Given the description of an element on the screen output the (x, y) to click on. 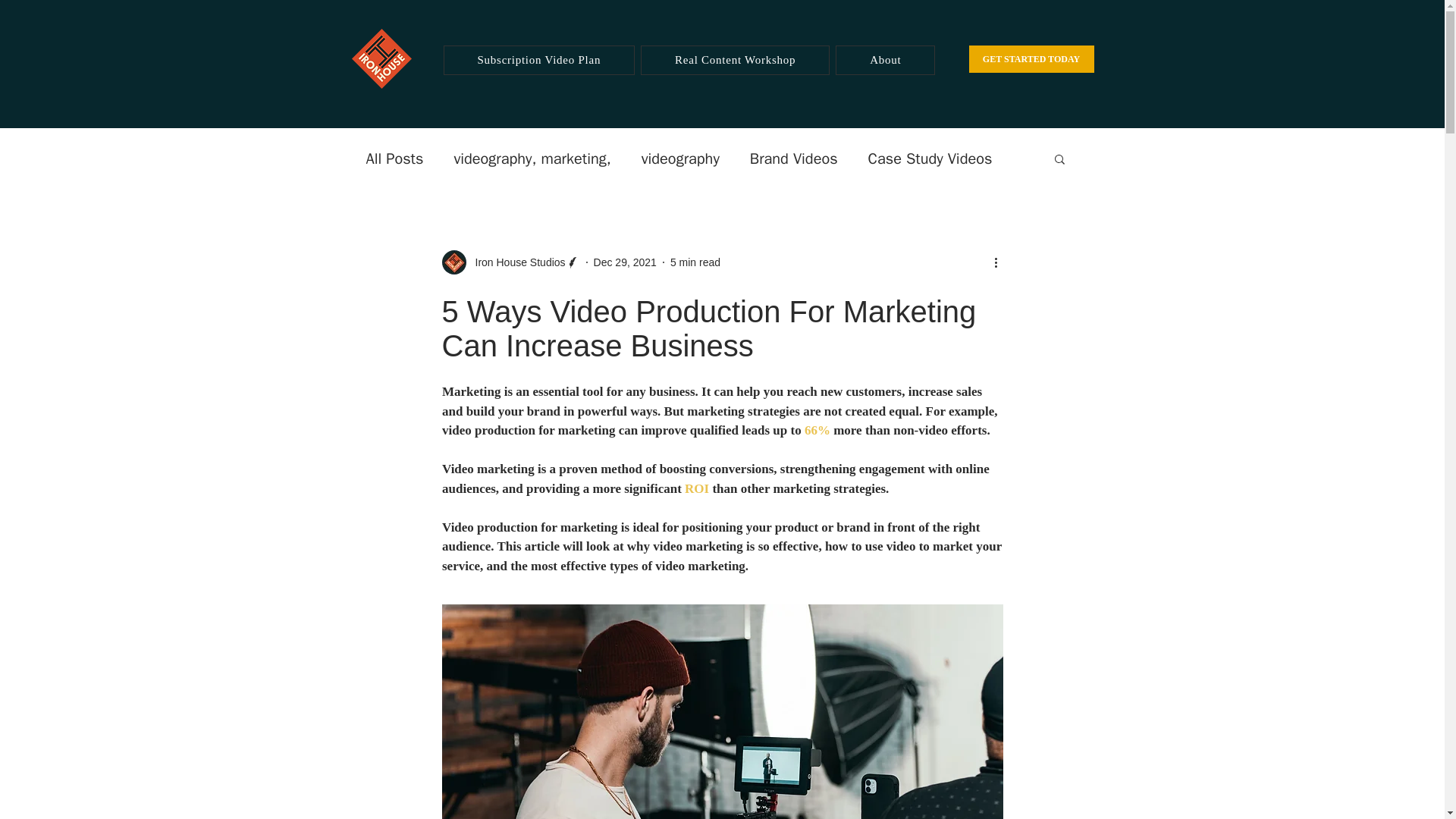
Brand Videos (793, 158)
GET STARTED TODAY (1031, 58)
Dec 29, 2021 (625, 262)
Iron House Studios (514, 262)
Subscription Video Plan (538, 60)
About (884, 60)
Real Content Workshop (734, 60)
Case Study Videos (929, 158)
All Posts (394, 158)
ROI (696, 487)
